Given the description of an element on the screen output the (x, y) to click on. 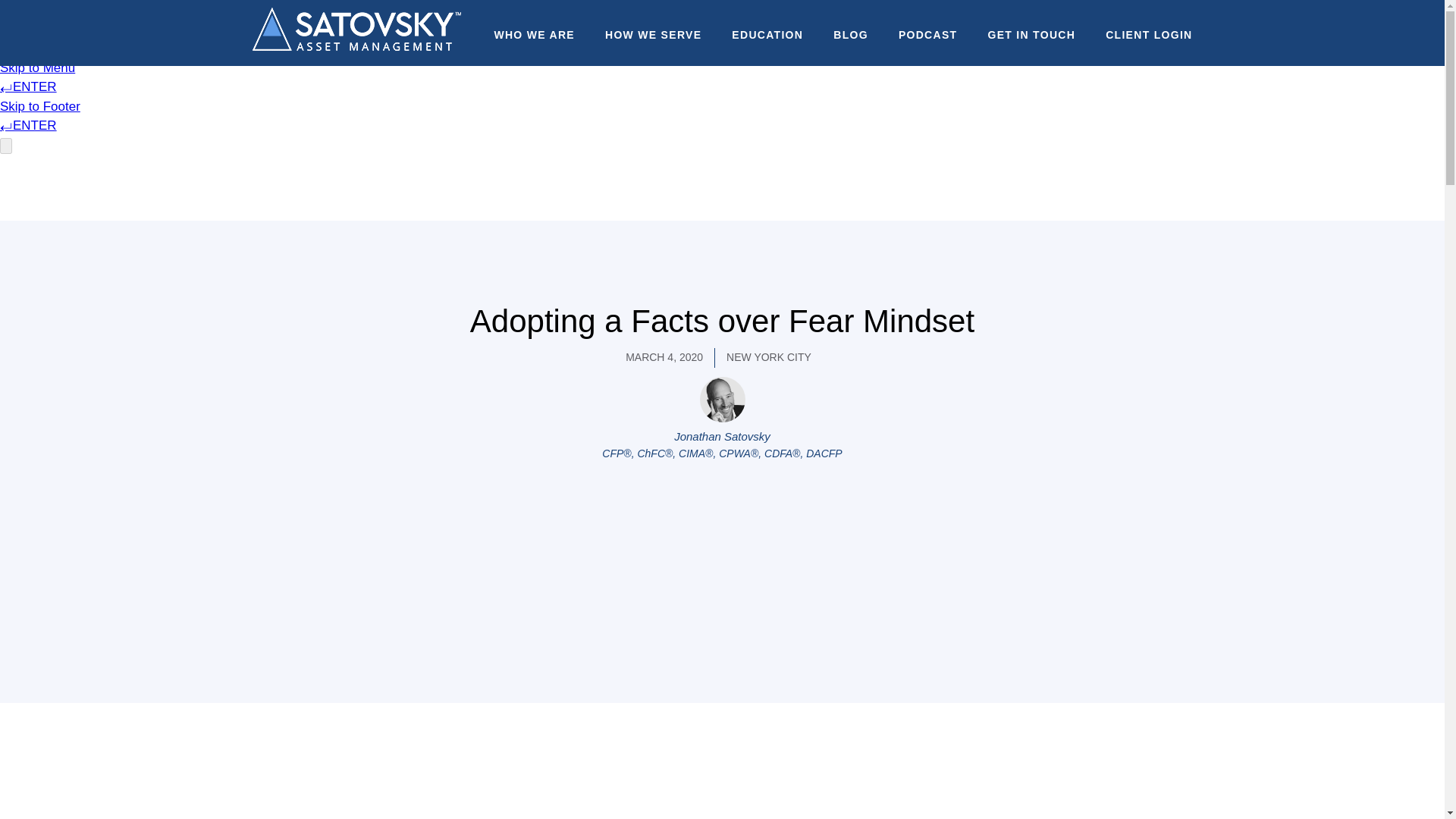
GET IN TOUCH (1031, 34)
PODCAST (928, 34)
EDUCATION (767, 34)
CLIENT LOGIN (1148, 34)
BLOG (849, 34)
HOW WE SERVE (653, 34)
WHO WE ARE (534, 34)
